Given the description of an element on the screen output the (x, y) to click on. 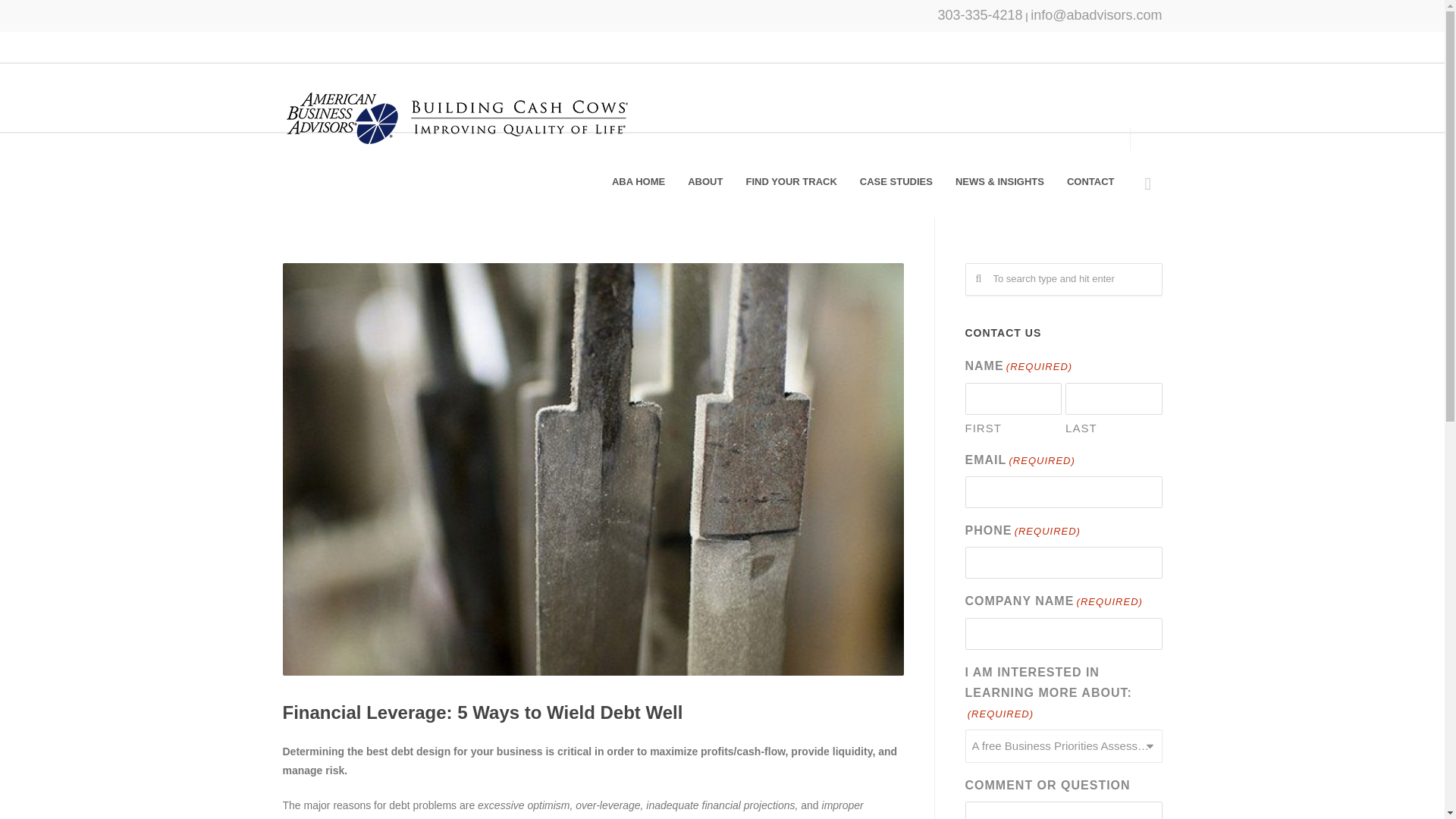
Permalink to Financial Leverage: 5 Ways to Wield Debt Well (482, 711)
Financial Leverage: 5 Ways to Wield Debt Well (482, 711)
ABOUT (705, 182)
FIND YOUR TRACK (790, 182)
To search type and hit enter (1062, 278)
CONTACT (1090, 182)
ABA HOME (638, 182)
CASE STUDIES (895, 182)
303-335-4218 (979, 14)
